Given the description of an element on the screen output the (x, y) to click on. 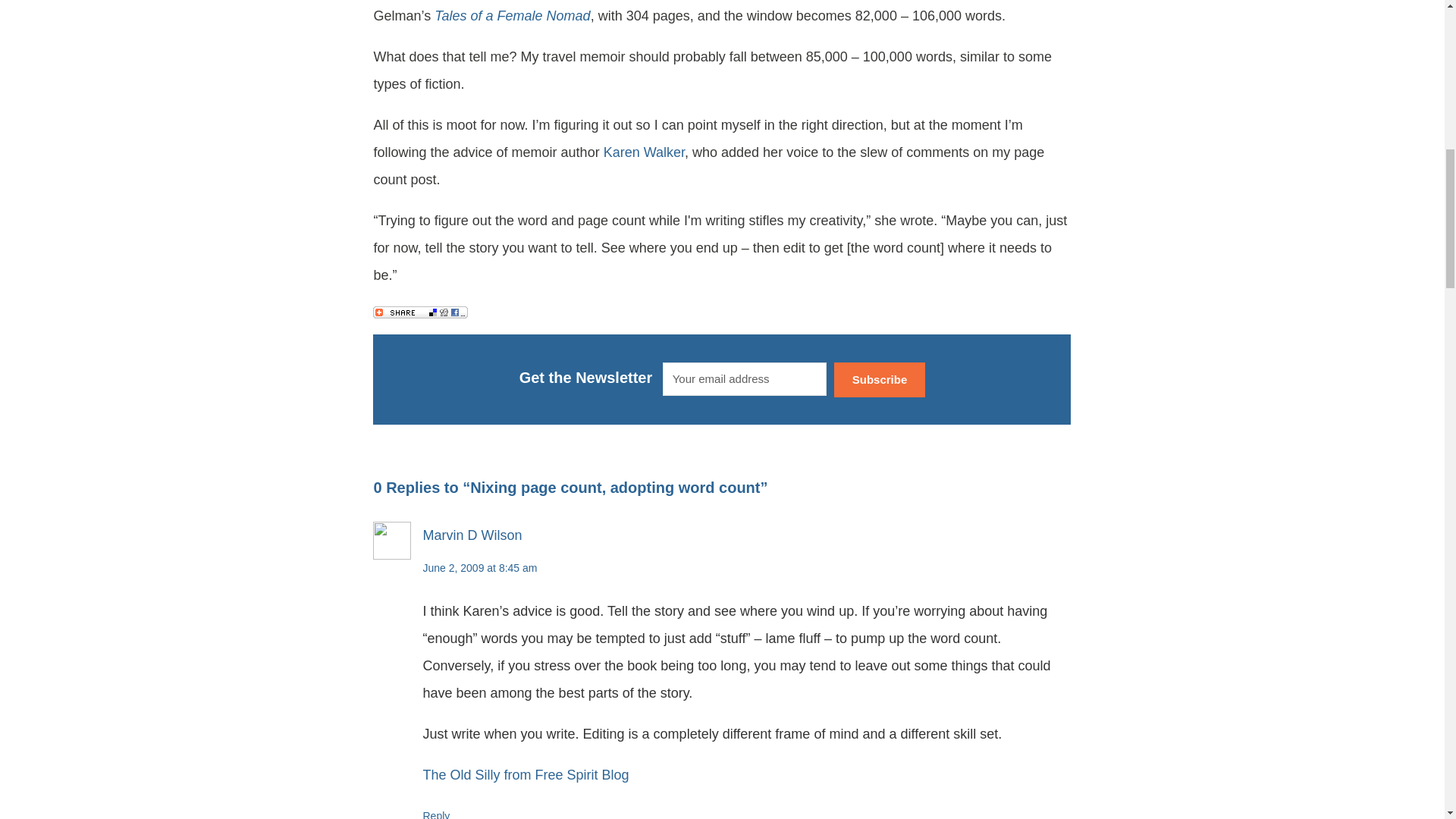
Karen Walker (644, 151)
Marvin D Wilson (471, 534)
Subscribe (880, 380)
Tales of a Female Nomad (511, 15)
June 2, 2009 at 8:45 am (479, 567)
The Old Silly from Free Spirit Blog (525, 774)
Bookmark and Share (419, 310)
Reply (435, 814)
